Given the description of an element on the screen output the (x, y) to click on. 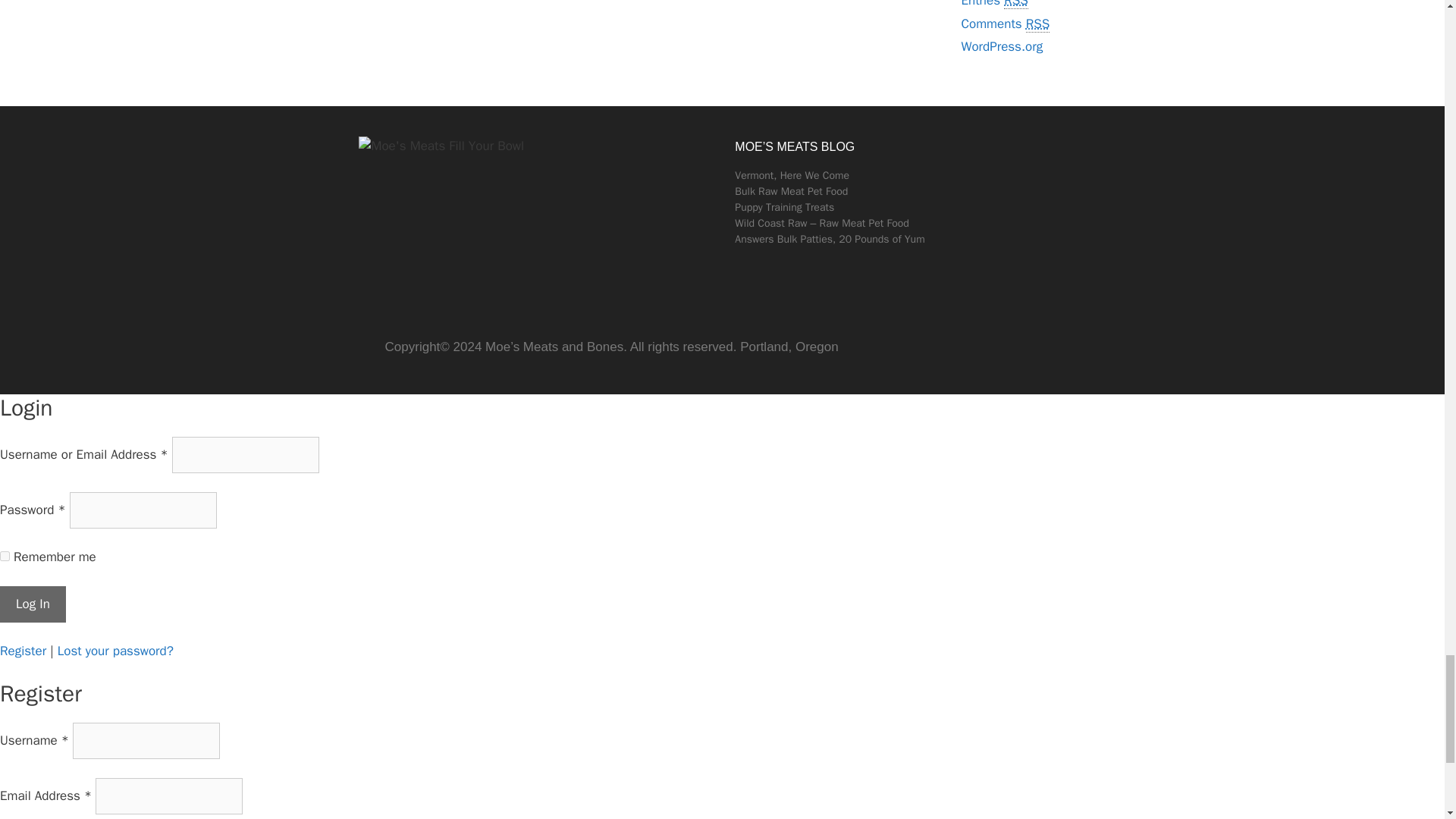
forever (5, 556)
Log In (32, 604)
Really Simple Syndication (1015, 4)
Really Simple Syndication (1037, 23)
